Given the description of an element on the screen output the (x, y) to click on. 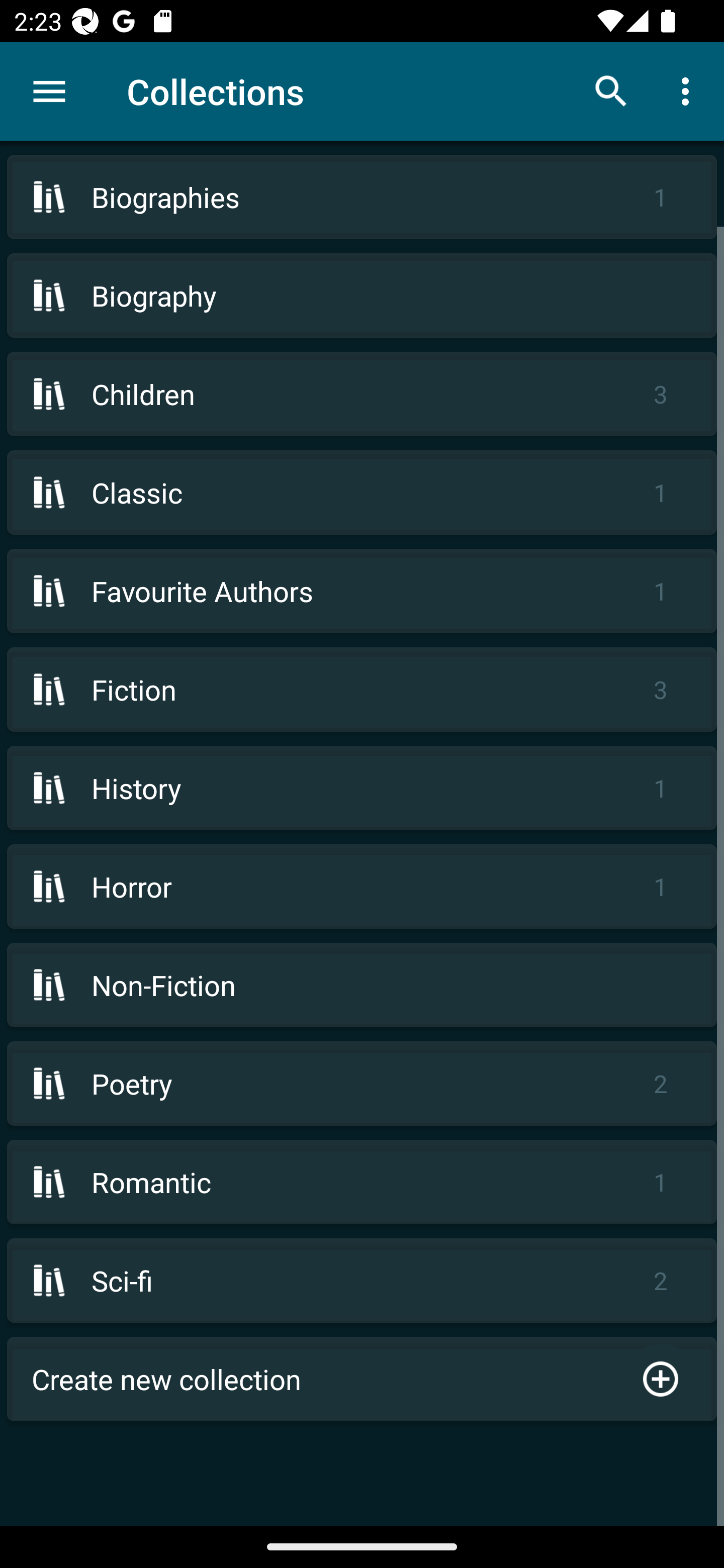
Menu (49, 91)
Search books & documents (611, 90)
More options (688, 90)
Biographies 1 (361, 197)
Biography (361, 295)
Children 3 (361, 393)
Classic 1 (361, 492)
Favourite Authors 1 (361, 590)
Fiction 3 (361, 689)
History 1 (361, 787)
Horror 1 (361, 885)
Non-Fiction (361, 984)
Poetry 2 (361, 1083)
Romantic 1 (361, 1181)
Sci-fi 2 (361, 1280)
Create new collection (361, 1378)
